Given the description of an element on the screen output the (x, y) to click on. 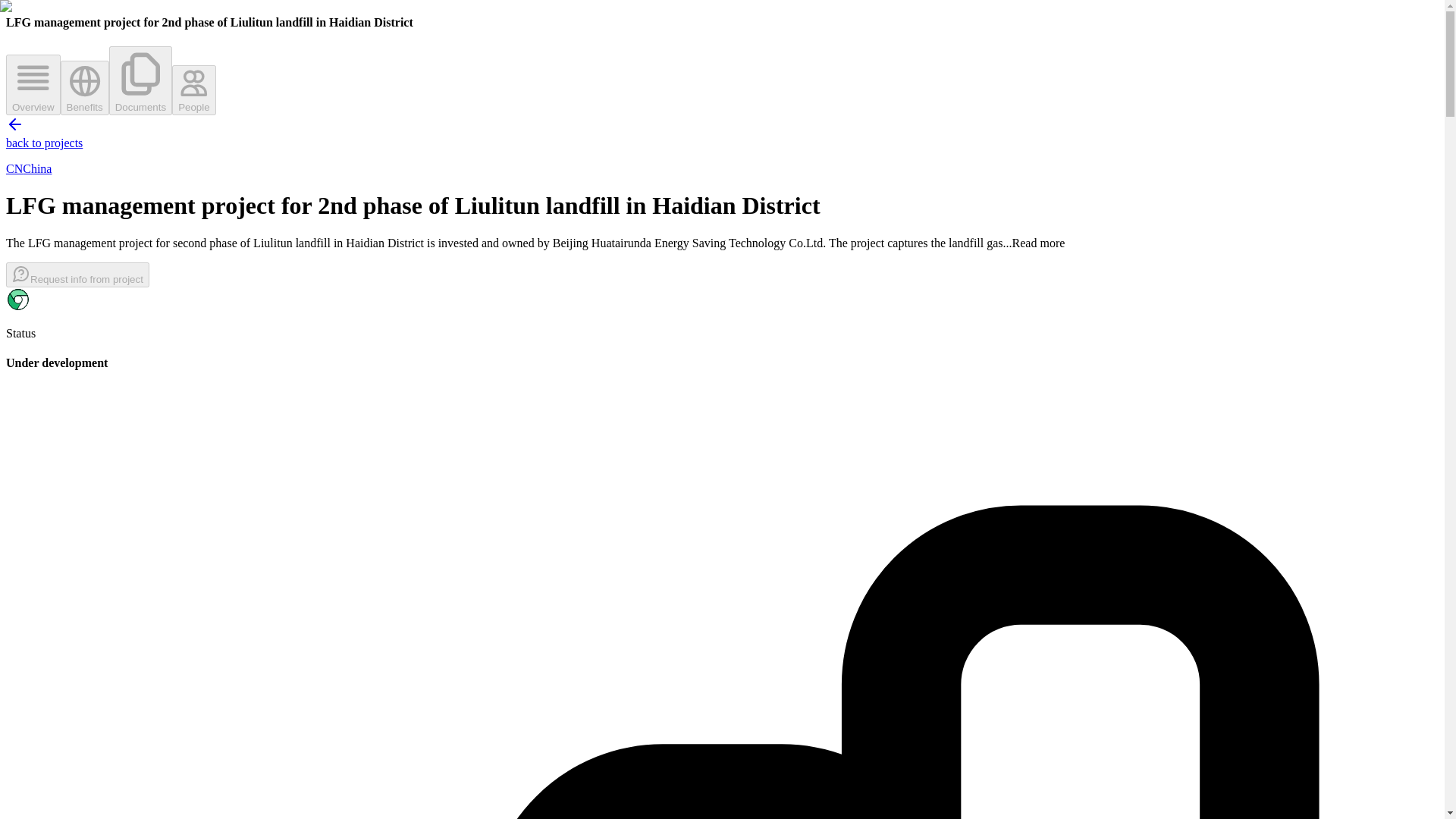
Request info from project (77, 274)
Overview (33, 84)
Documents (140, 80)
